Given the description of an element on the screen output the (x, y) to click on. 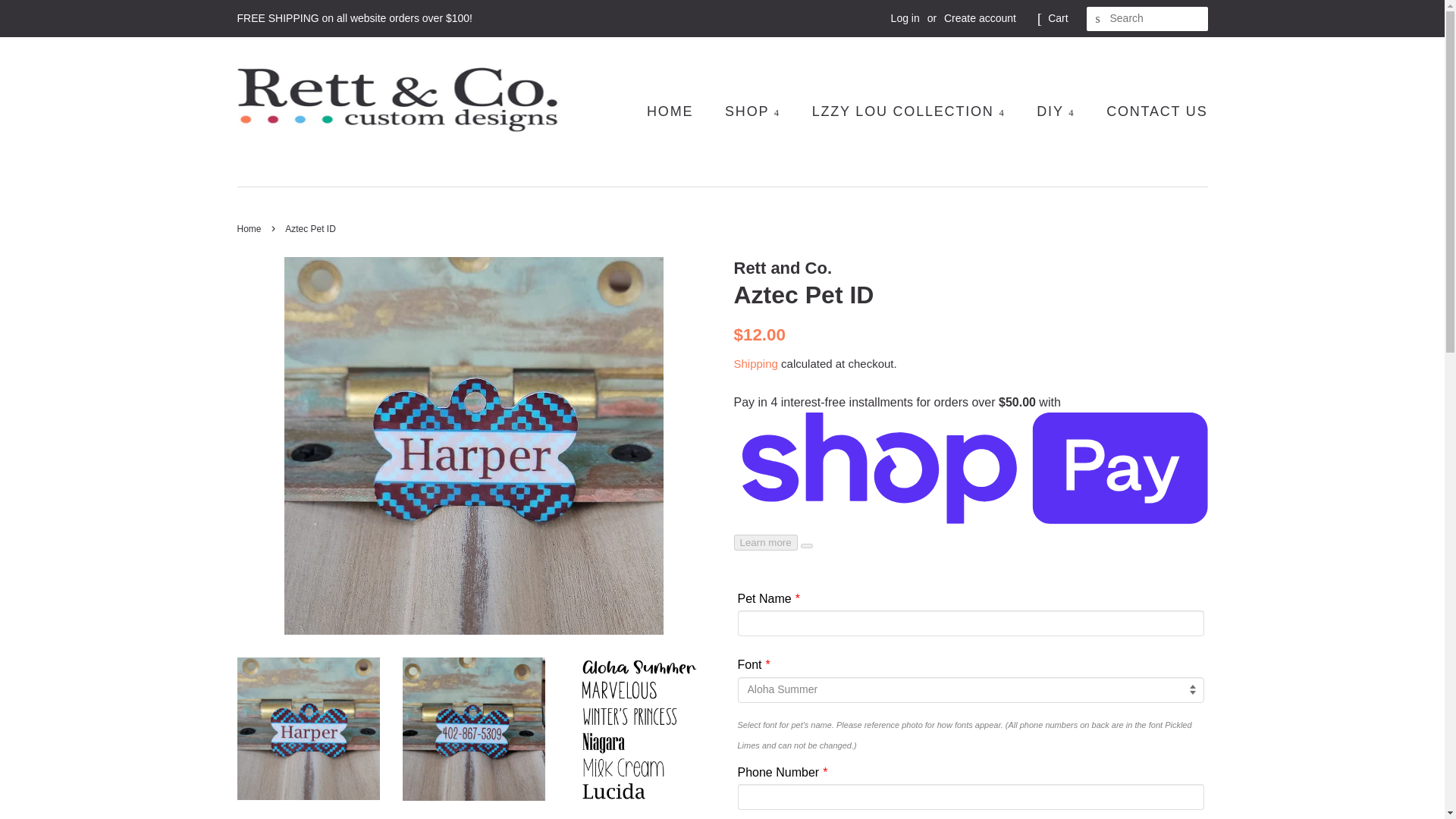
SEARCH (1097, 18)
Create account (979, 18)
Back to the frontpage (249, 228)
Cart (1057, 18)
Log in (905, 18)
